Given the description of an element on the screen output the (x, y) to click on. 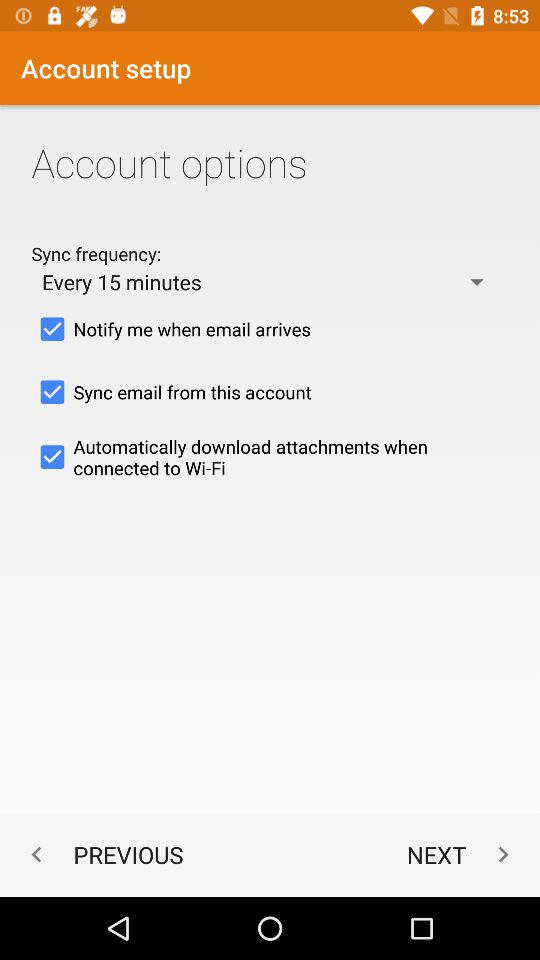
select icon below every 15 minutes icon (269, 329)
